Given the description of an element on the screen output the (x, y) to click on. 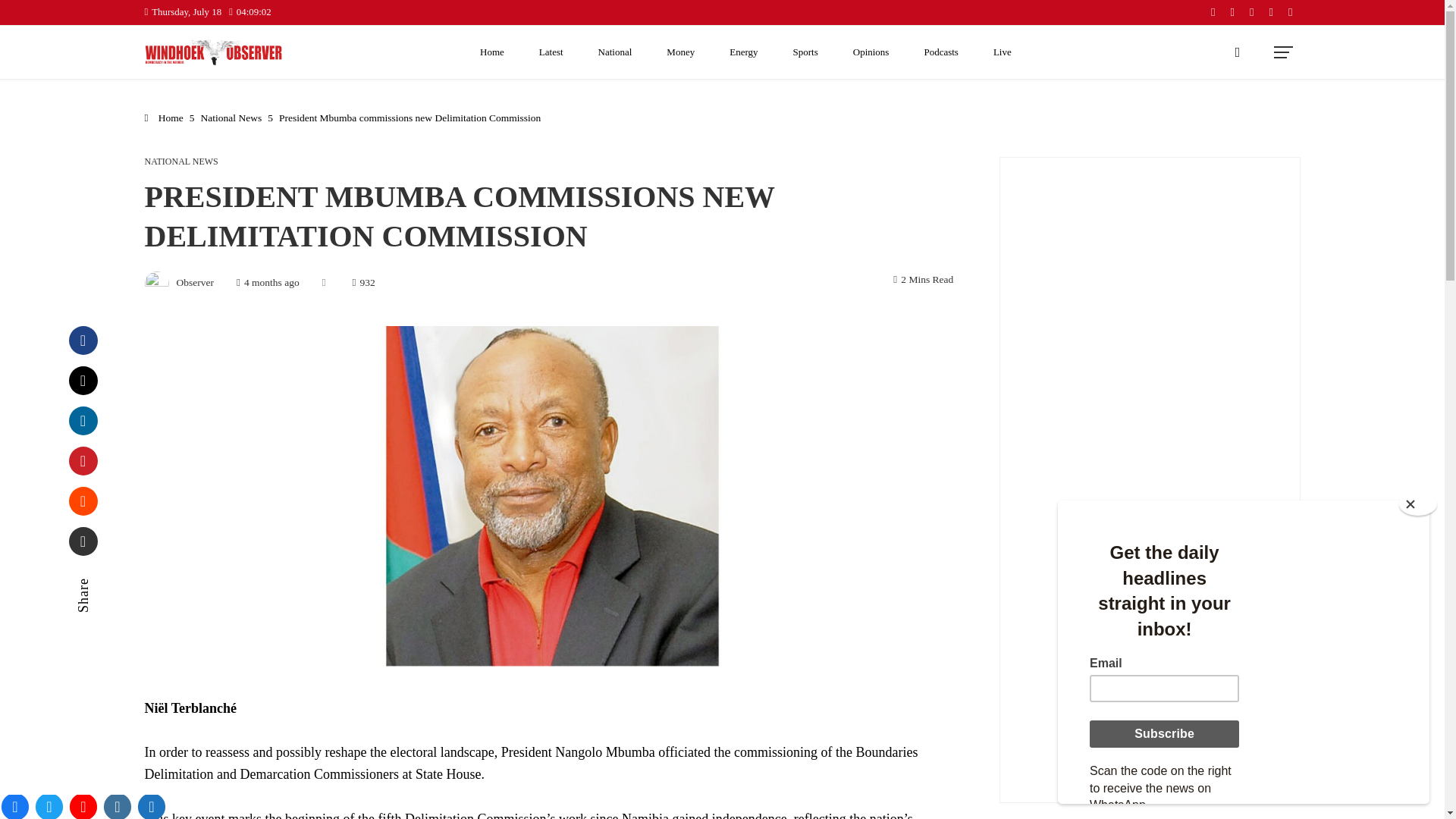
View (1149, 324)
NATIONAL NEWS (180, 161)
Opinions (871, 51)
Sports (804, 51)
LinkedIn (82, 420)
National News (231, 117)
Podcasts (941, 51)
Home (491, 51)
Twitter (82, 380)
Pinterest (82, 460)
View (1149, 610)
Latest (551, 51)
Facebook (82, 339)
National (615, 51)
Live (1002, 51)
